Given the description of an element on the screen output the (x, y) to click on. 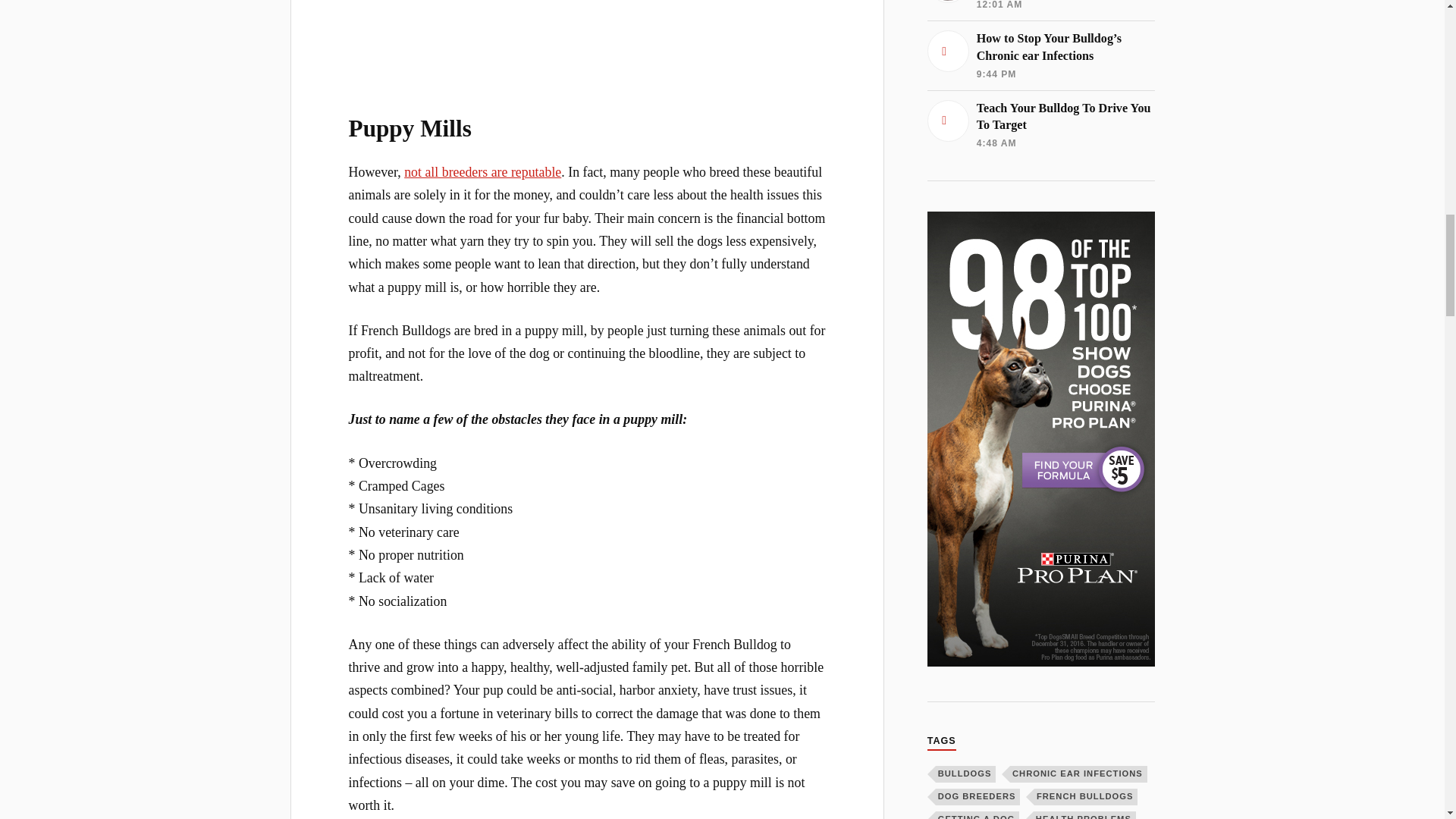
not all breeders are reputable (482, 171)
